Given the description of an element on the screen output the (x, y) to click on. 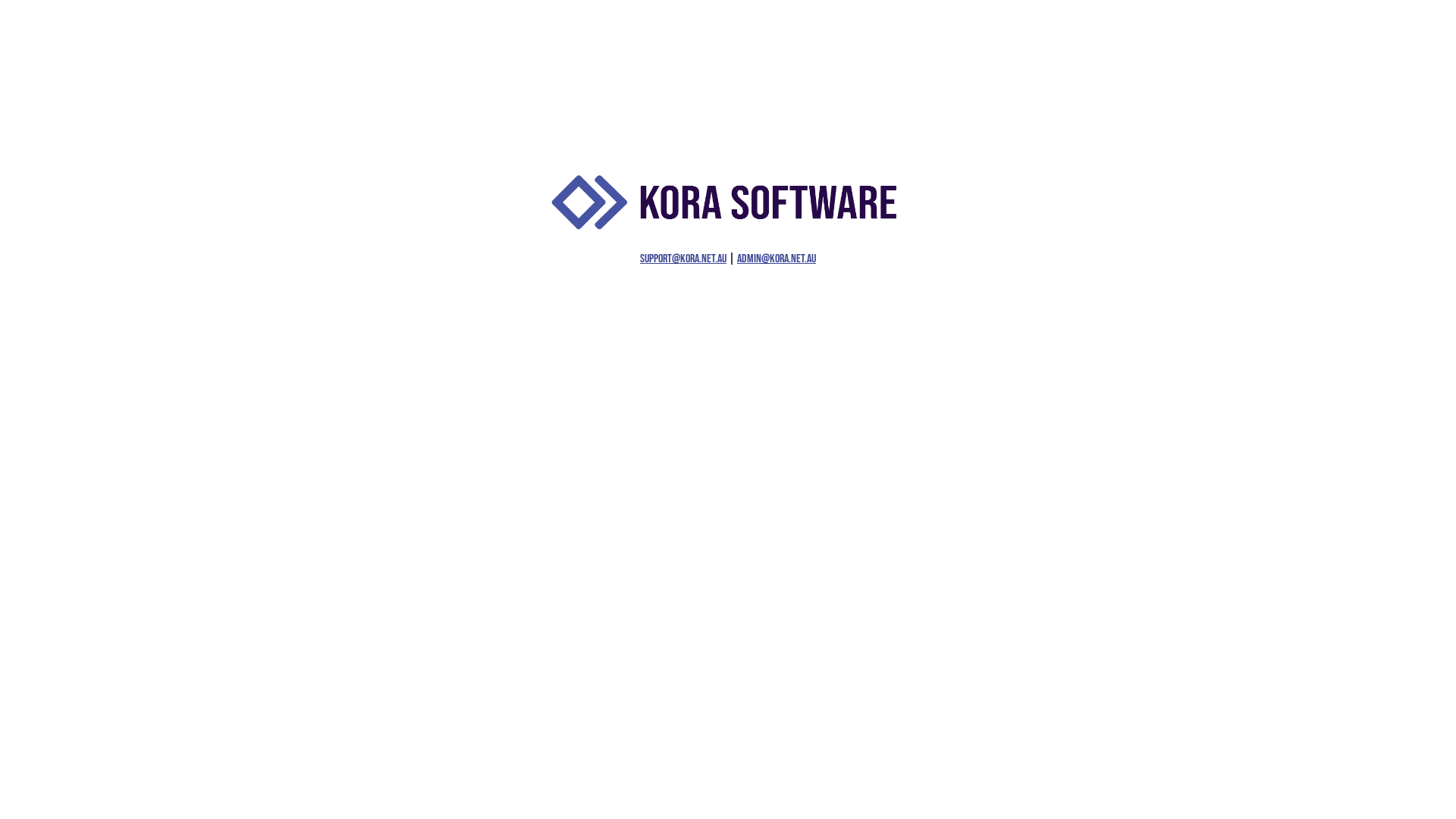
admin@kora.net.au Element type: text (776, 258)
support@kora.net.au Element type: text (683, 258)
